Given the description of an element on the screen output the (x, y) to click on. 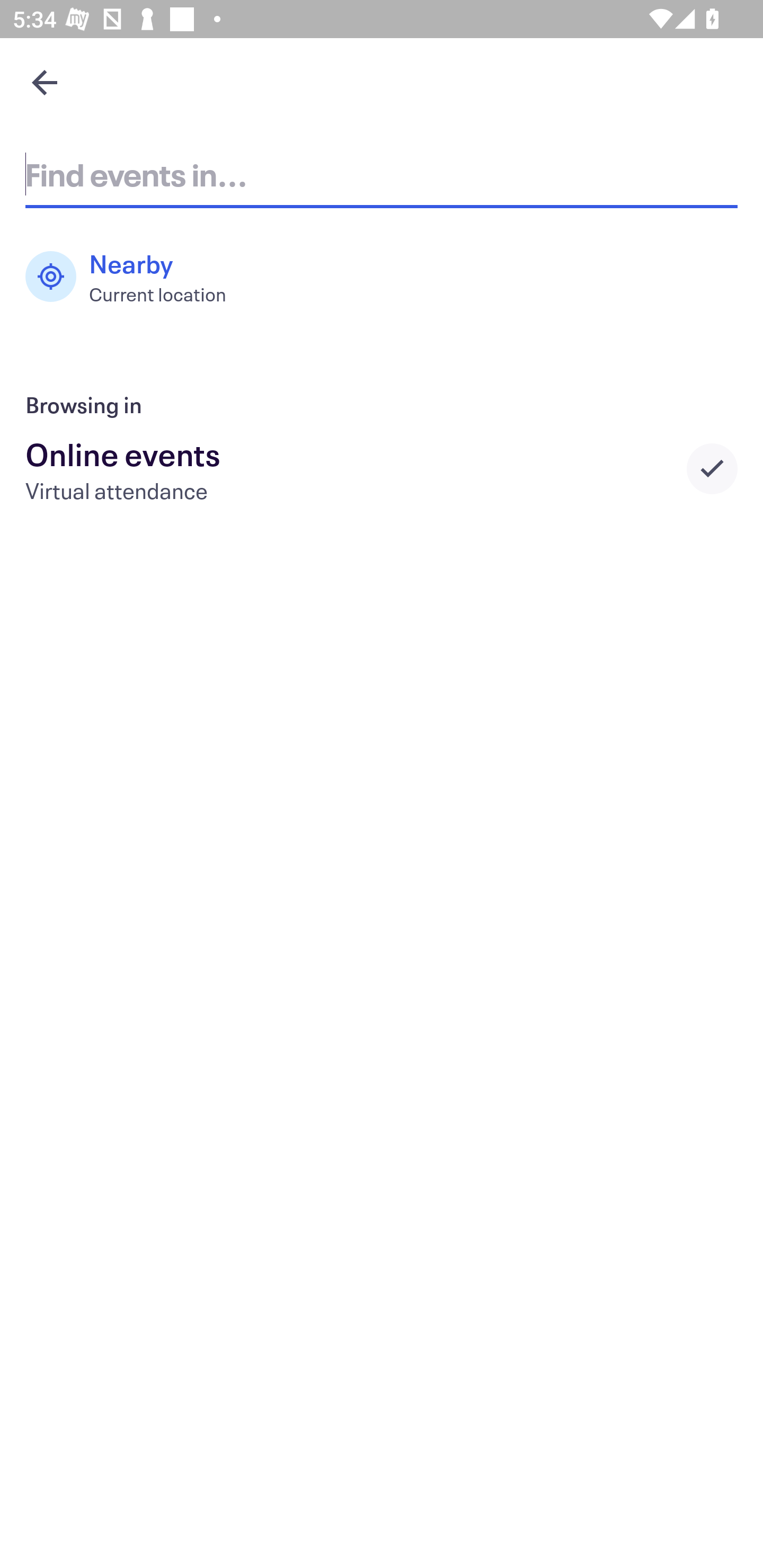
Navigate up (44, 82)
Find events in... (381, 173)
Nearby Current location (135, 276)
Online events Virtual attendance Selected city (381, 468)
